Given the description of an element on the screen output the (x, y) to click on. 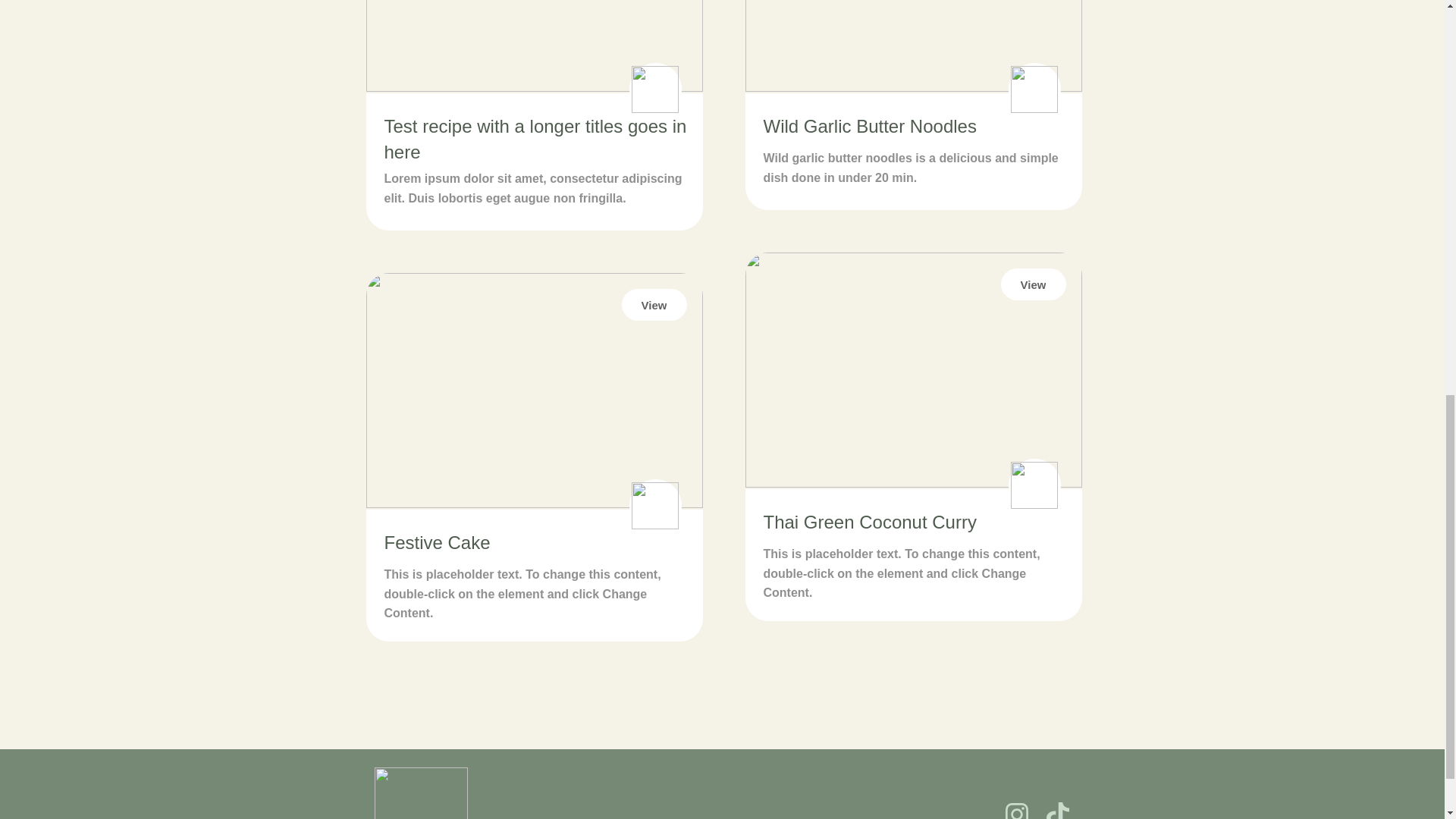
spoons 3.png (1033, 484)
View (1033, 284)
spoons 1.png (1033, 89)
Mousse Cake.jpg (533, 389)
1.png (912, 369)
spoons 2.png (654, 505)
View (654, 305)
77213DD2-39E1-4C50-9596-EAE1699592AA.png (912, 45)
spoons 0.png (654, 89)
